Given the description of an element on the screen output the (x, y) to click on. 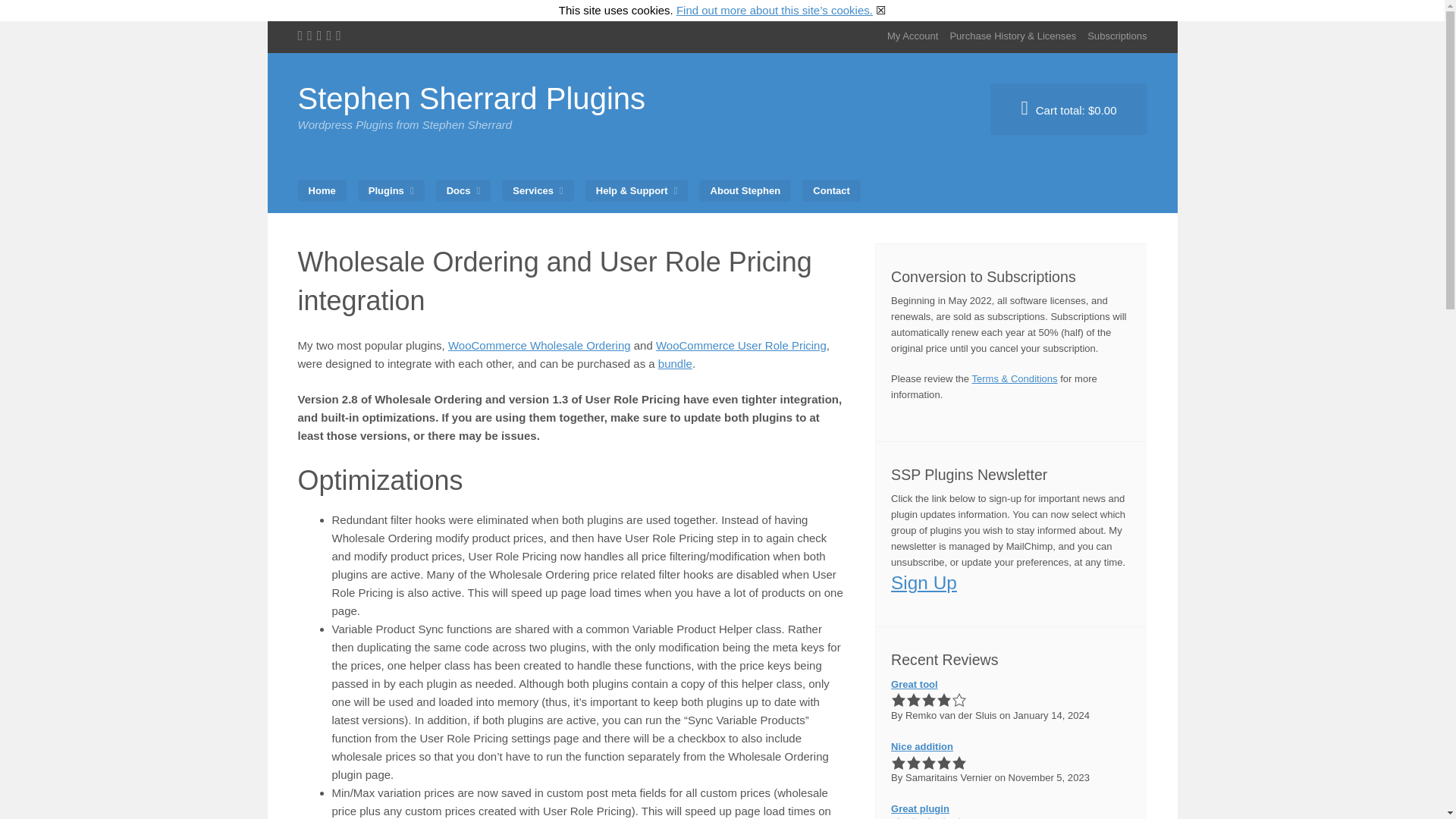
Stephen Sherrard Plugins (471, 98)
Stephen Sherrard Plugins (471, 98)
Services (537, 190)
My Account (911, 35)
Home (321, 190)
Docs (463, 190)
Subscriptions (1117, 35)
Plugins (391, 190)
